Given the description of an element on the screen output the (x, y) to click on. 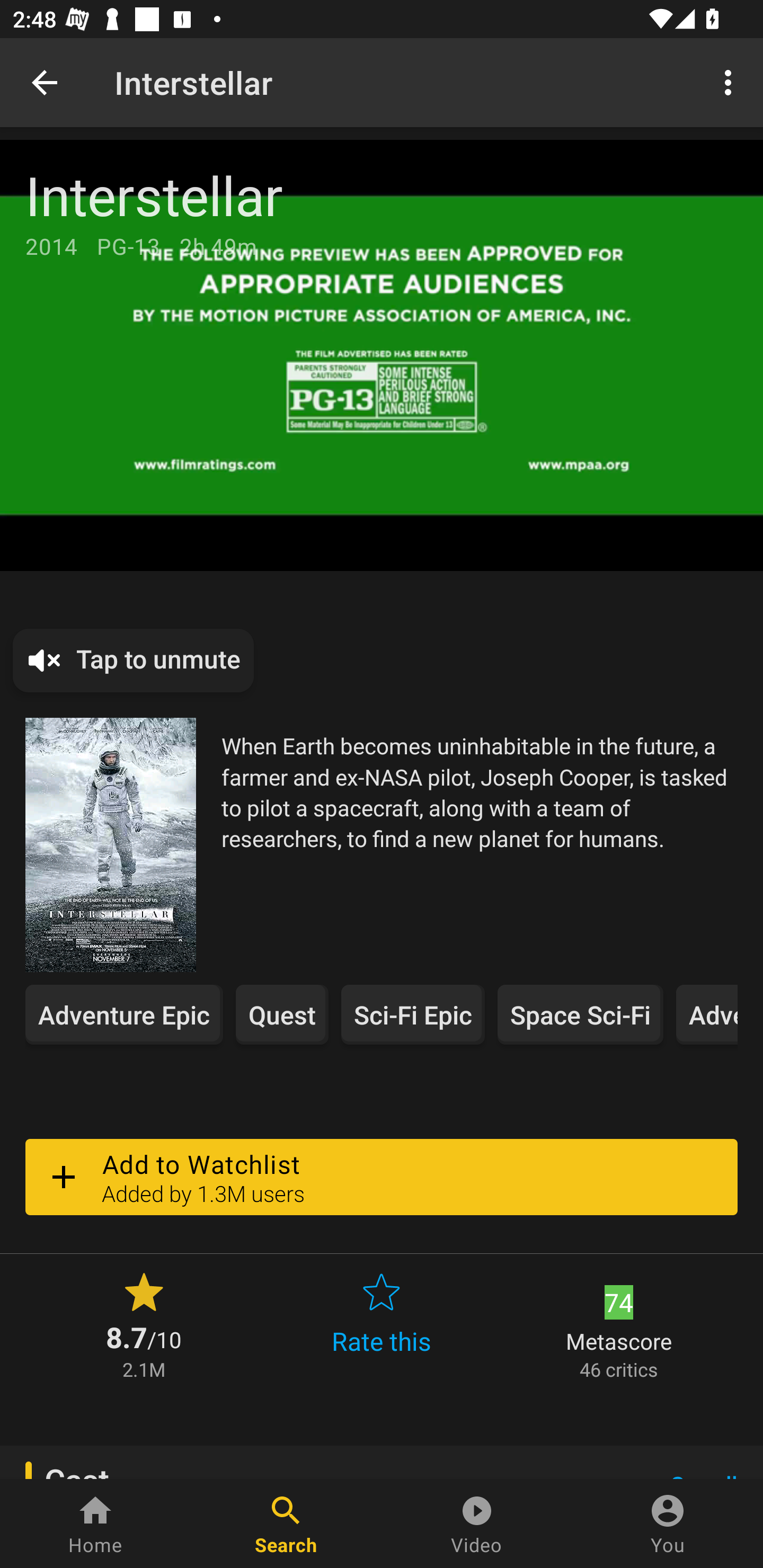
More options (731, 81)
toggle controls (381, 354)
Tap to unmute (133, 660)
Adventure Epic (123, 1014)
Quest (281, 1014)
Sci-Fi Epic (412, 1014)
Space Sci-Fi (580, 1014)
Add to Watchlist Added by 1.3M users (381, 1176)
8.7 /10 2.1M (143, 1323)
Rate this (381, 1323)
74 Metascore 46 critics (618, 1323)
Home (95, 1523)
Video (476, 1523)
You (667, 1523)
